Given the description of an element on the screen output the (x, y) to click on. 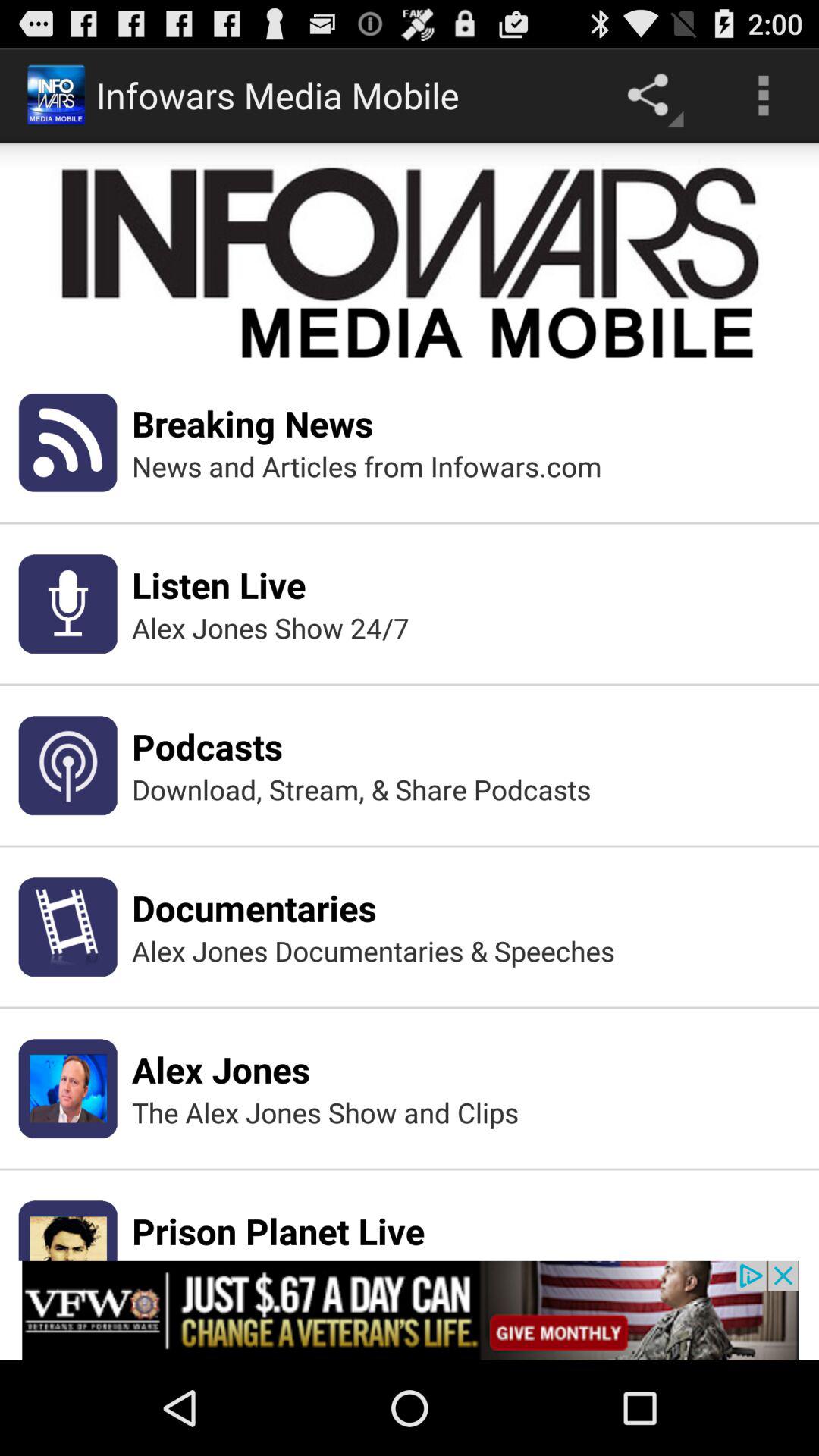
show the advertisement (409, 1310)
